Given the description of an element on the screen output the (x, y) to click on. 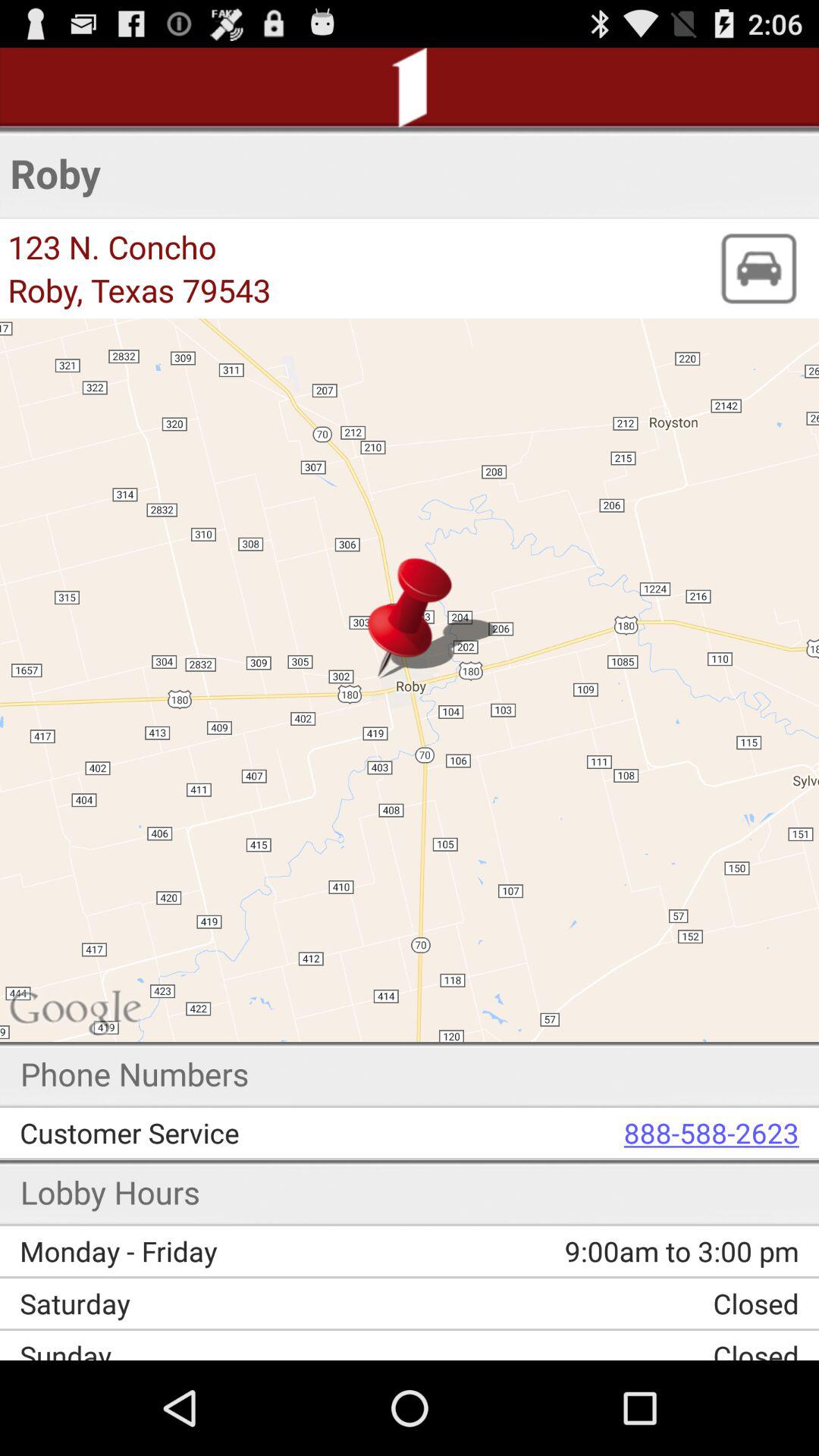
turn off the icon next to monday - friday (594, 1251)
